Given the description of an element on the screen output the (x, y) to click on. 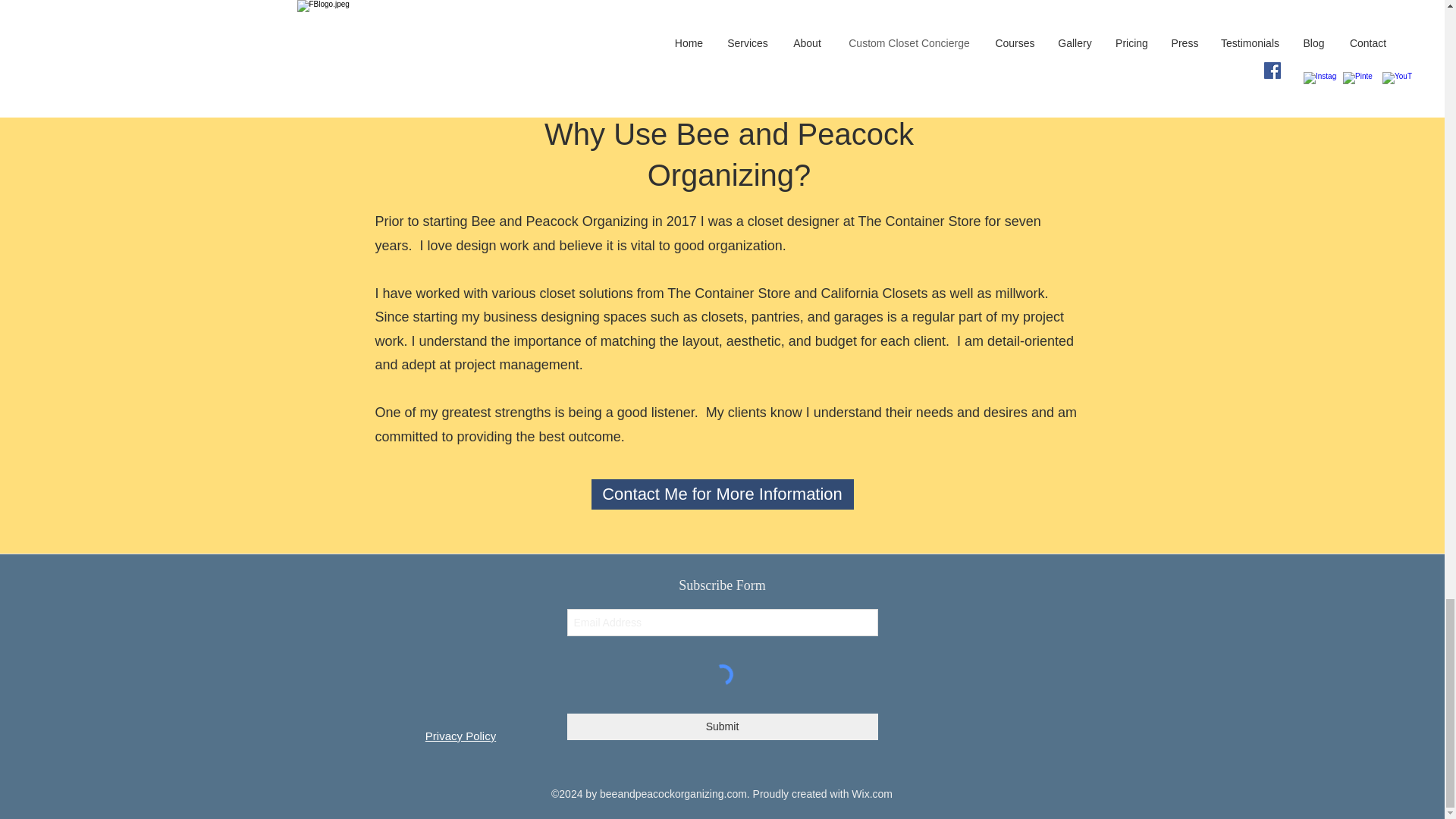
Submit (722, 726)
Privacy Policy (460, 735)
Contact Me for More Information (722, 494)
